Given the description of an element on the screen output the (x, y) to click on. 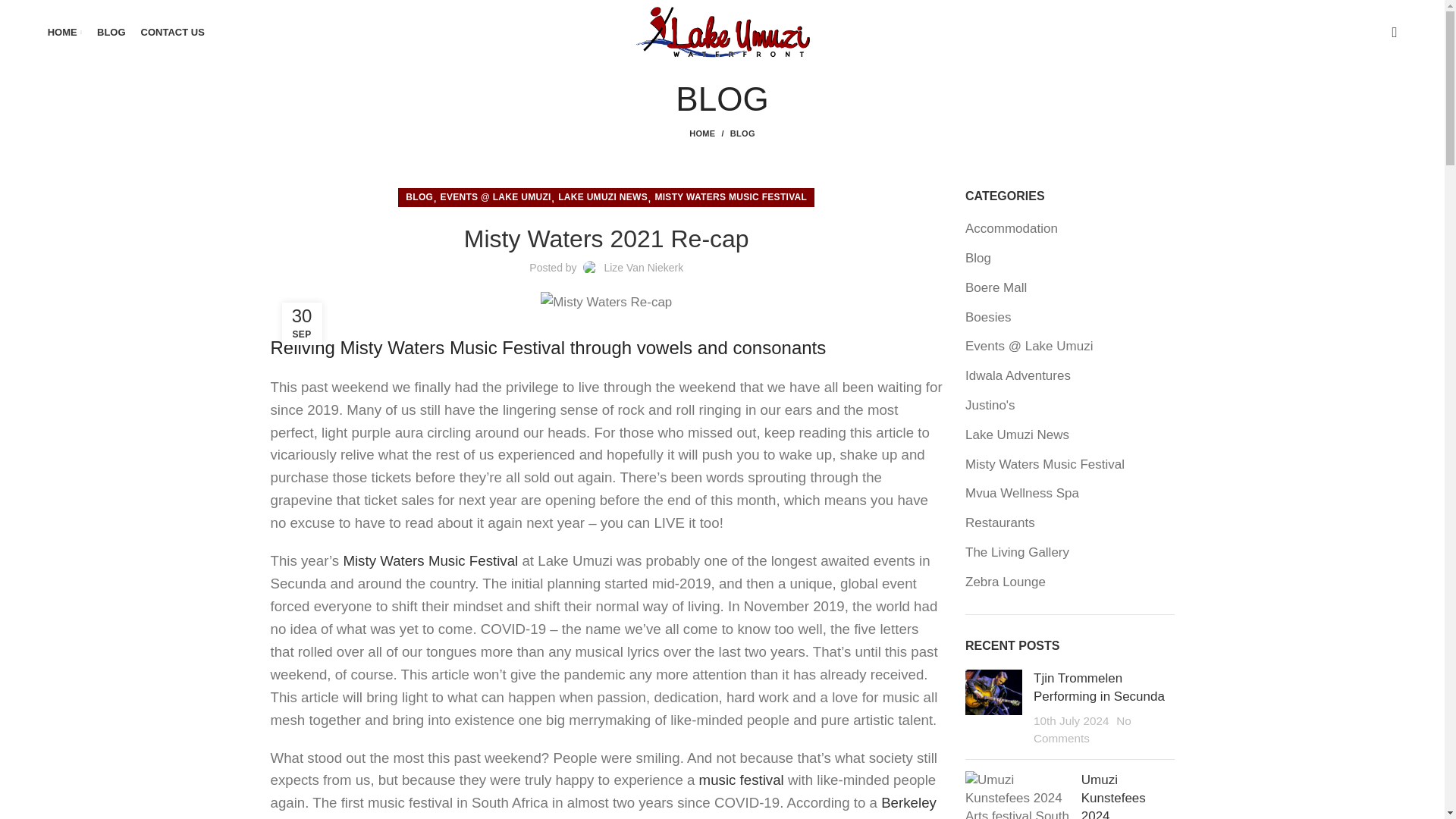
Website Umuzi Kunstefees 6 (1017, 795)
HOME (64, 31)
Permalink to Tjin Trommelen Performing in Secunda (1098, 686)
Permalink to Umuzi Kunstefees 2024 (1113, 796)
